Given the description of an element on the screen output the (x, y) to click on. 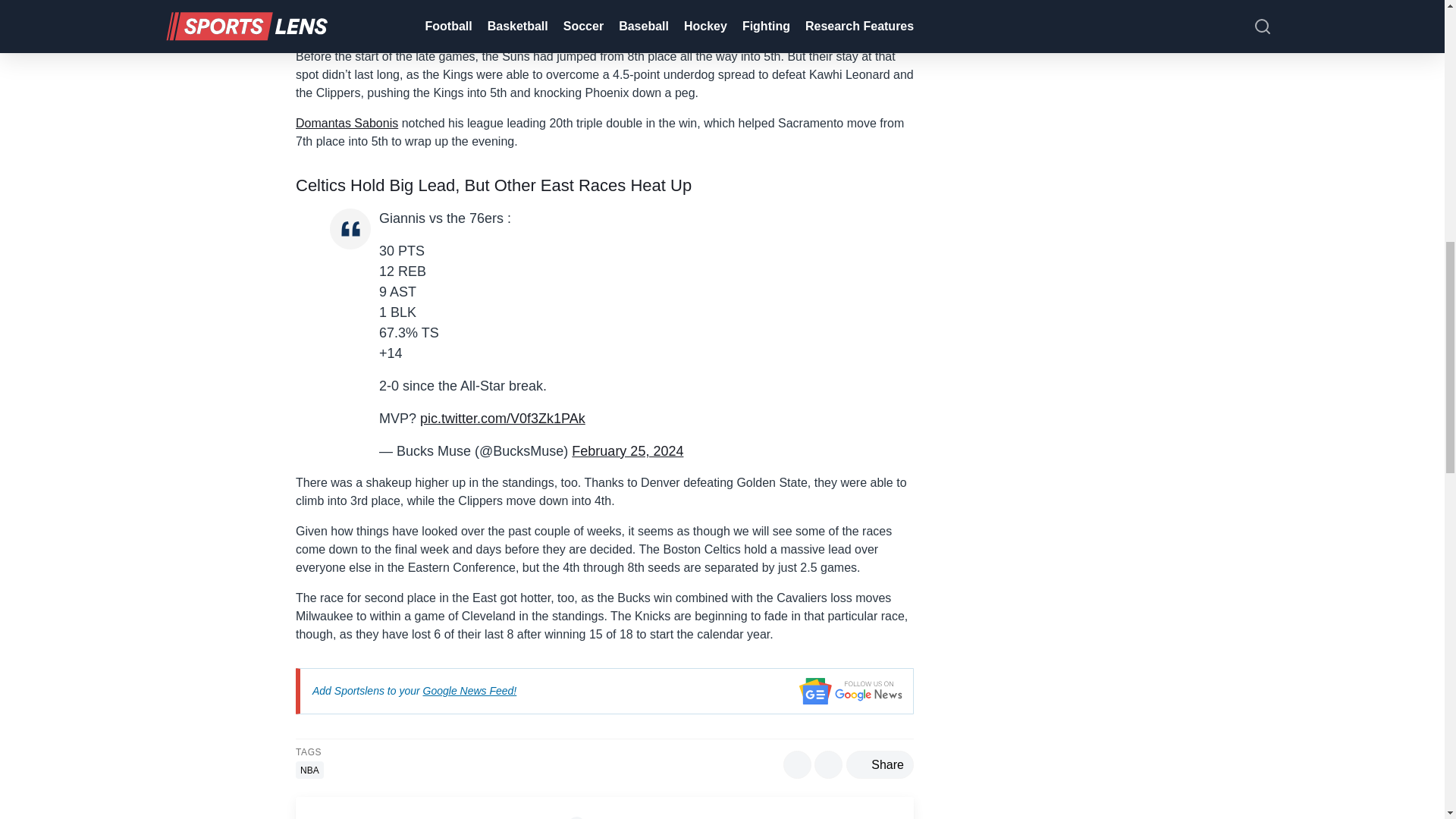
Share (879, 764)
Google News Feed! (469, 690)
NBA (309, 769)
Domantas Sabonis (346, 123)
February 25, 2024 (627, 450)
